Given the description of an element on the screen output the (x, y) to click on. 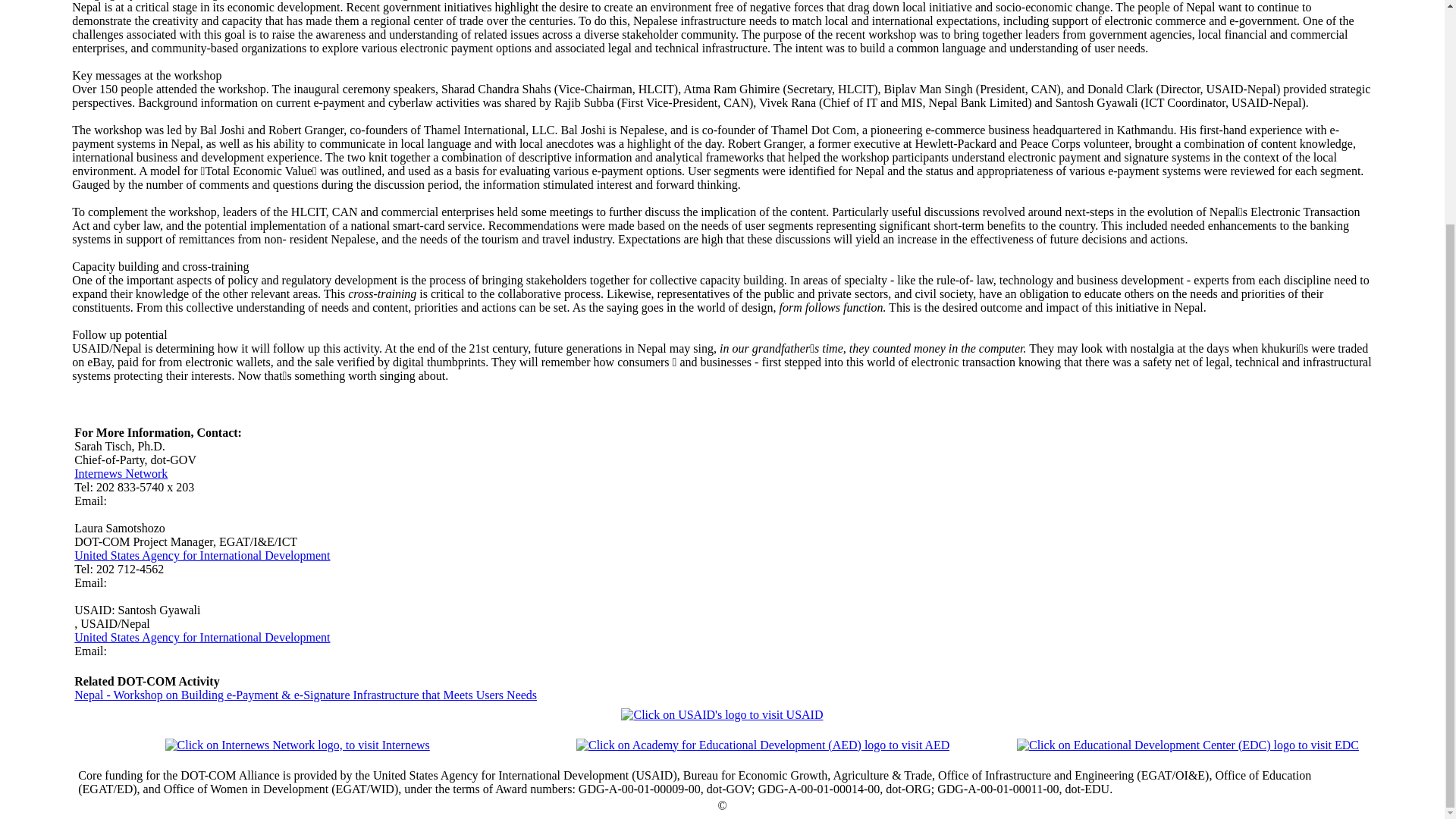
United States Agency for International Development (202, 636)
Internews Network (120, 472)
United States Agency for International Development (202, 554)
